Given the description of an element on the screen output the (x, y) to click on. 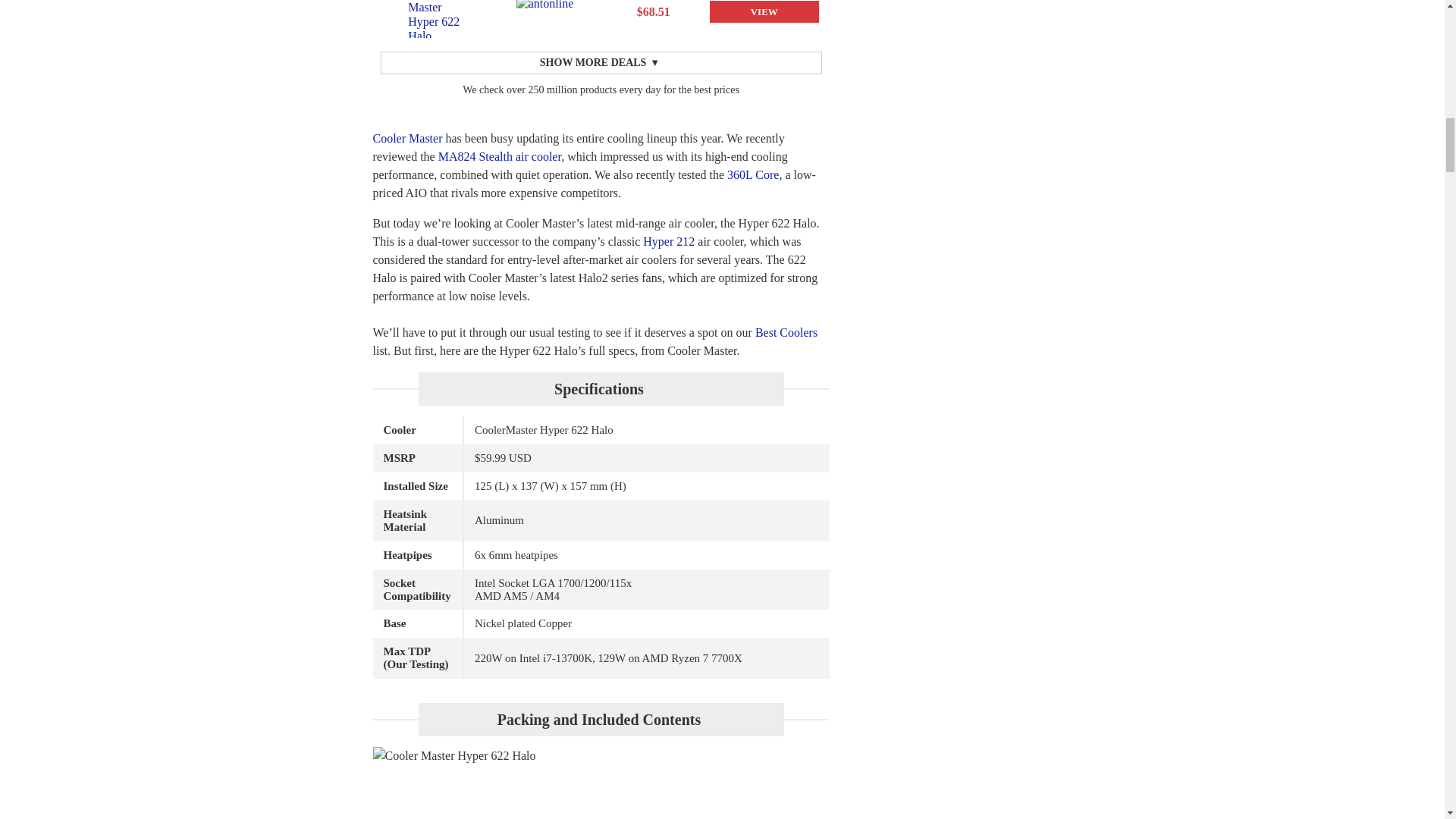
antonline (546, 13)
Cooler Master Hyper 622 Halo... (437, 18)
